Given the description of an element on the screen output the (x, y) to click on. 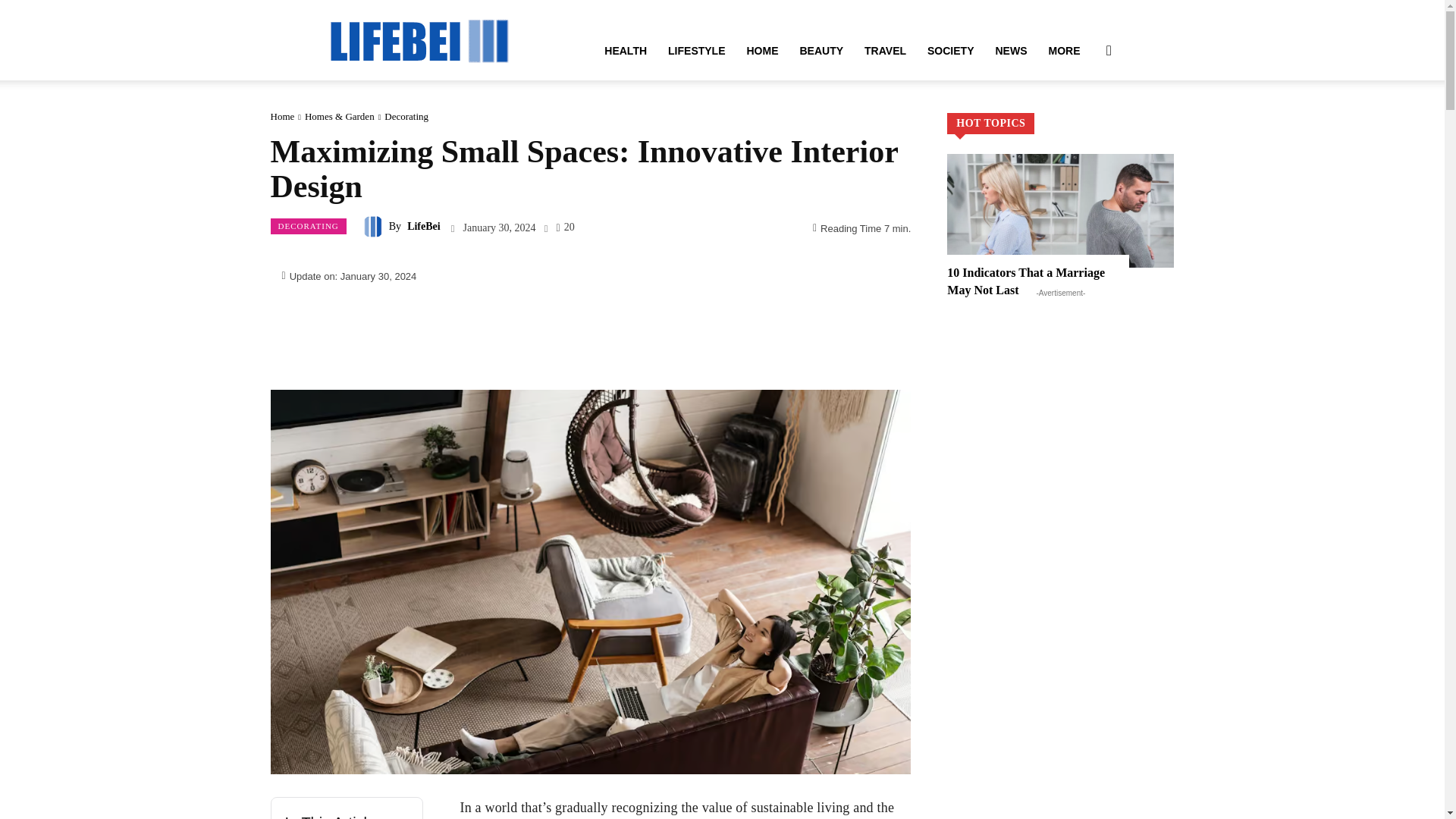
LifeBei (374, 226)
LIFESTYLE (696, 50)
10 Indicators That a Marriage May Not Last (1026, 280)
LifeBei Best Lifestyle Tips (419, 39)
View all posts in Decorating (406, 116)
LifeBei (419, 39)
10 Indicators That a Marriage May Not Last (1060, 210)
HEALTH (626, 50)
HOME (762, 50)
Search (1085, 122)
